Given the description of an element on the screen output the (x, y) to click on. 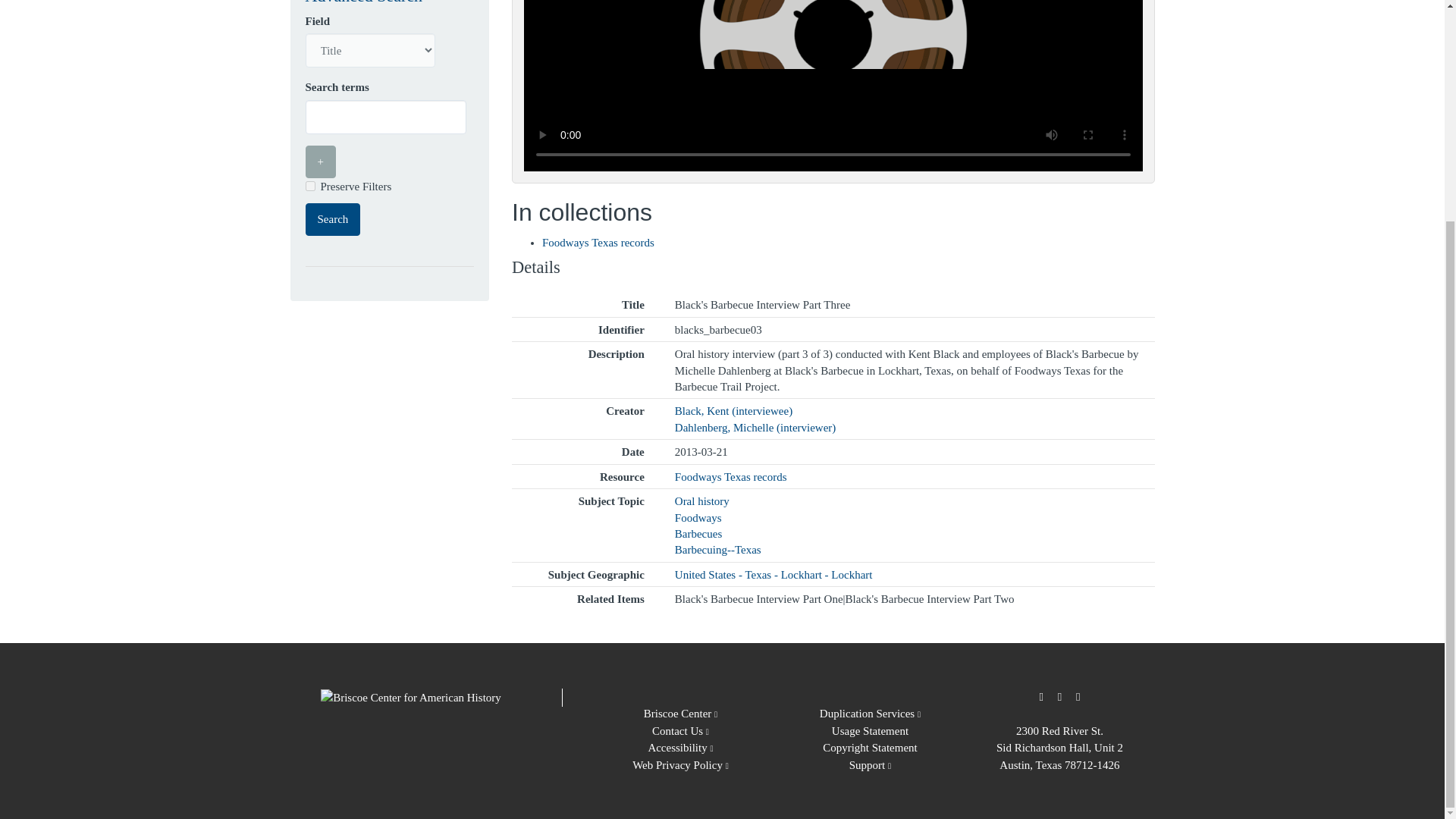
Web Privacy Policy (680, 765)
Foodways (698, 517)
Add field (319, 161)
Duplication Services (869, 713)
Copyright Statement (869, 747)
Contact Us (680, 730)
Support (869, 765)
Accessibility (680, 747)
Foodways Texas records (597, 242)
Oral history (702, 500)
